Given the description of an element on the screen output the (x, y) to click on. 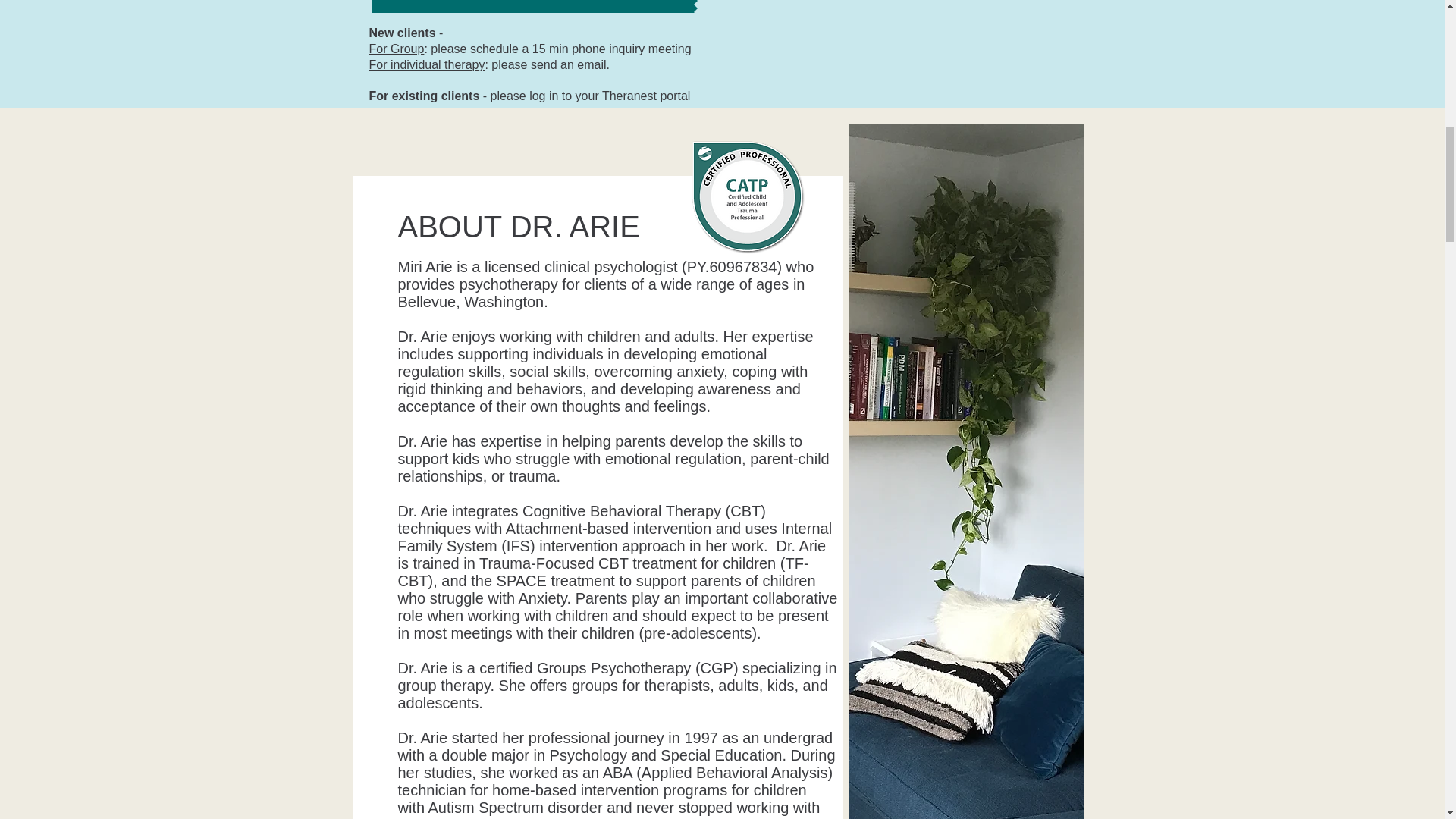
vkyqlicx8kya5vkibcvbuw.png (747, 194)
Schedule (532, 6)
